Given the description of an element on the screen output the (x, y) to click on. 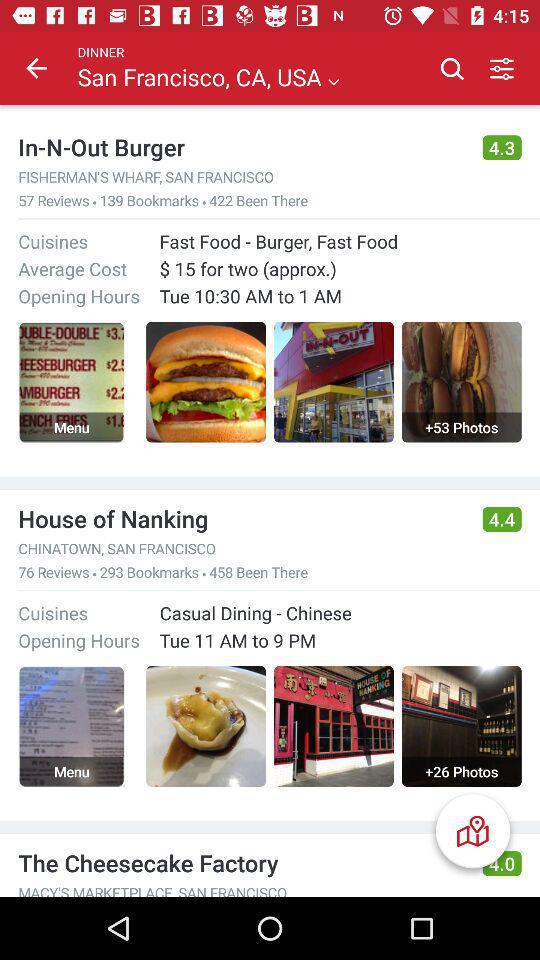
swipe to the 15 for two icon (340, 268)
